Given the description of an element on the screen output the (x, y) to click on. 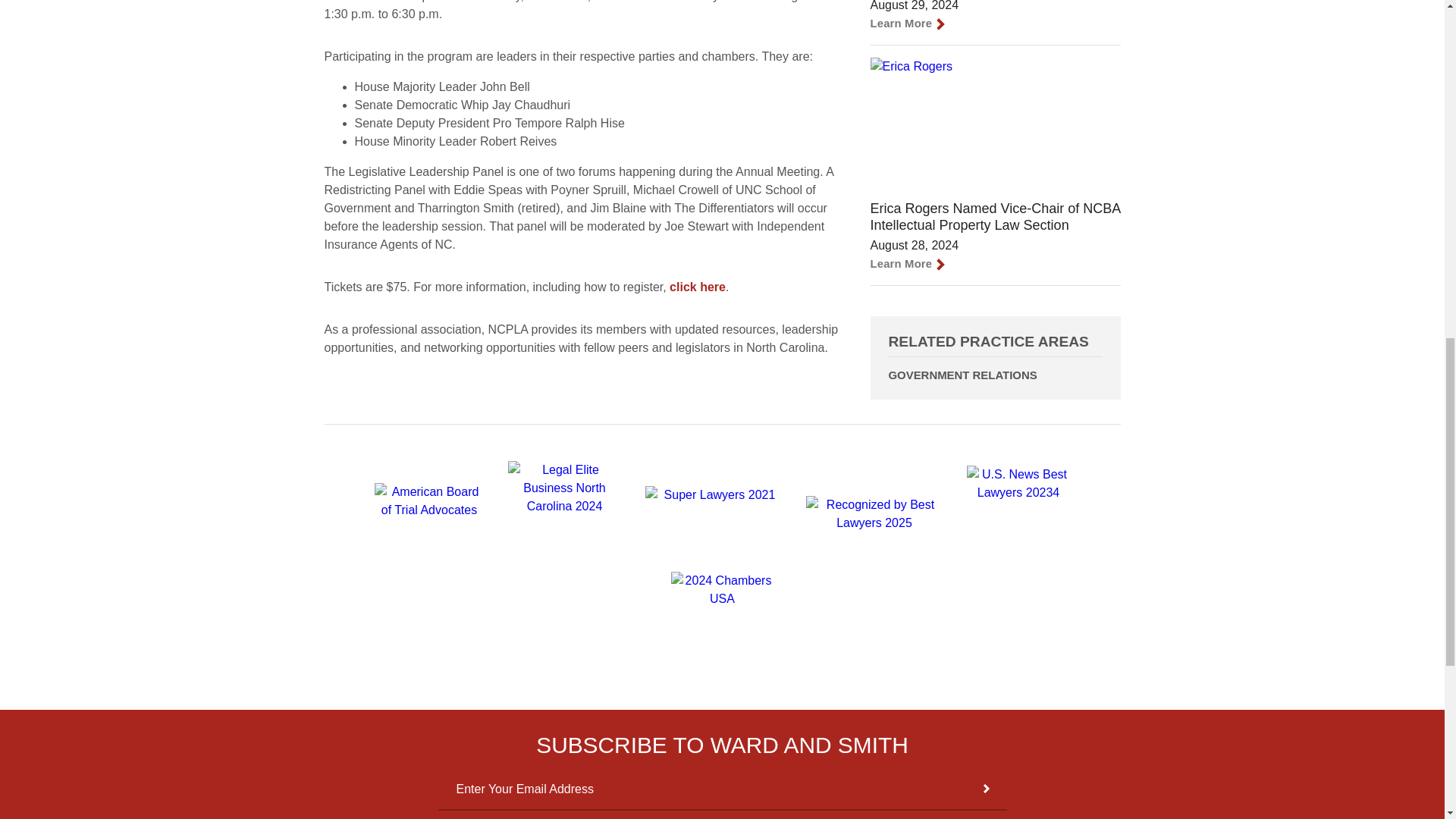
click here (697, 286)
click here (697, 286)
GOVERNMENT RELATIONS (995, 375)
